Given the description of an element on the screen output the (x, y) to click on. 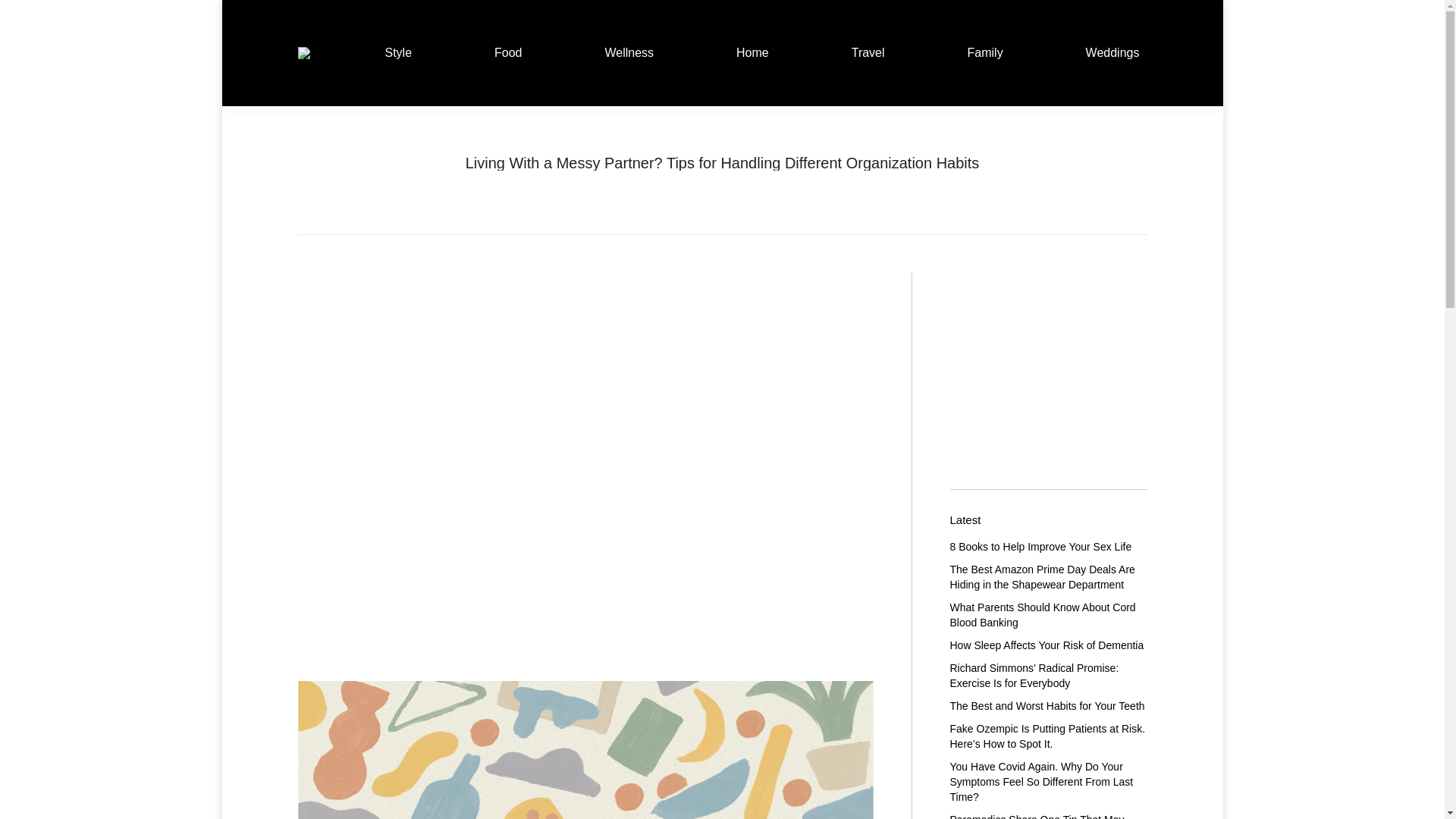
Style (398, 52)
Wellness (628, 52)
Style (671, 177)
Weddings (1112, 52)
Home (752, 52)
Home (633, 177)
8 Books to Help Improve Your Sex Life (1040, 546)
Family (984, 52)
Travel (868, 52)
Food (507, 52)
